Given the description of an element on the screen output the (x, y) to click on. 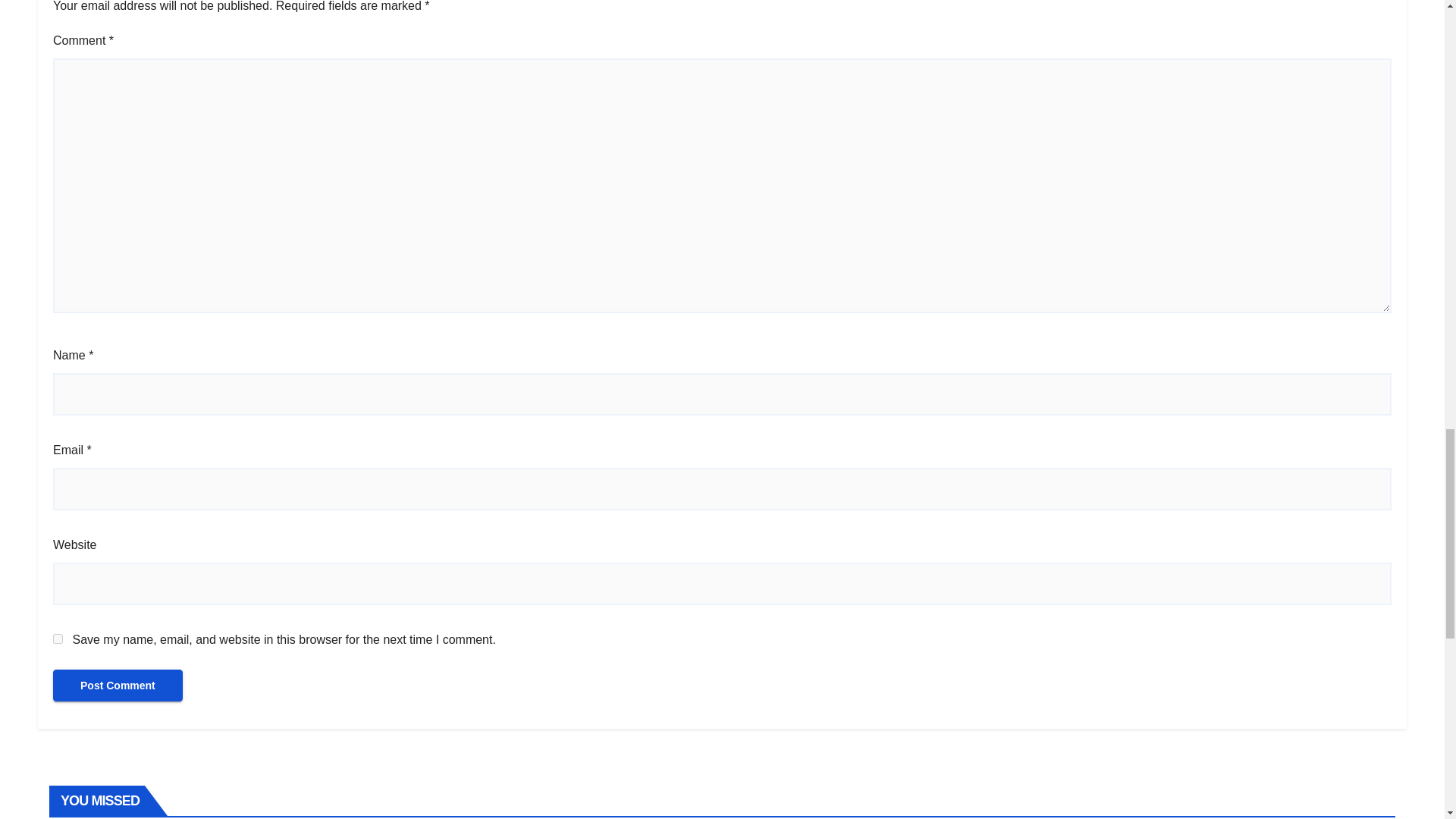
Post Comment (117, 685)
yes (57, 638)
Post Comment (117, 685)
